Given the description of an element on the screen output the (x, y) to click on. 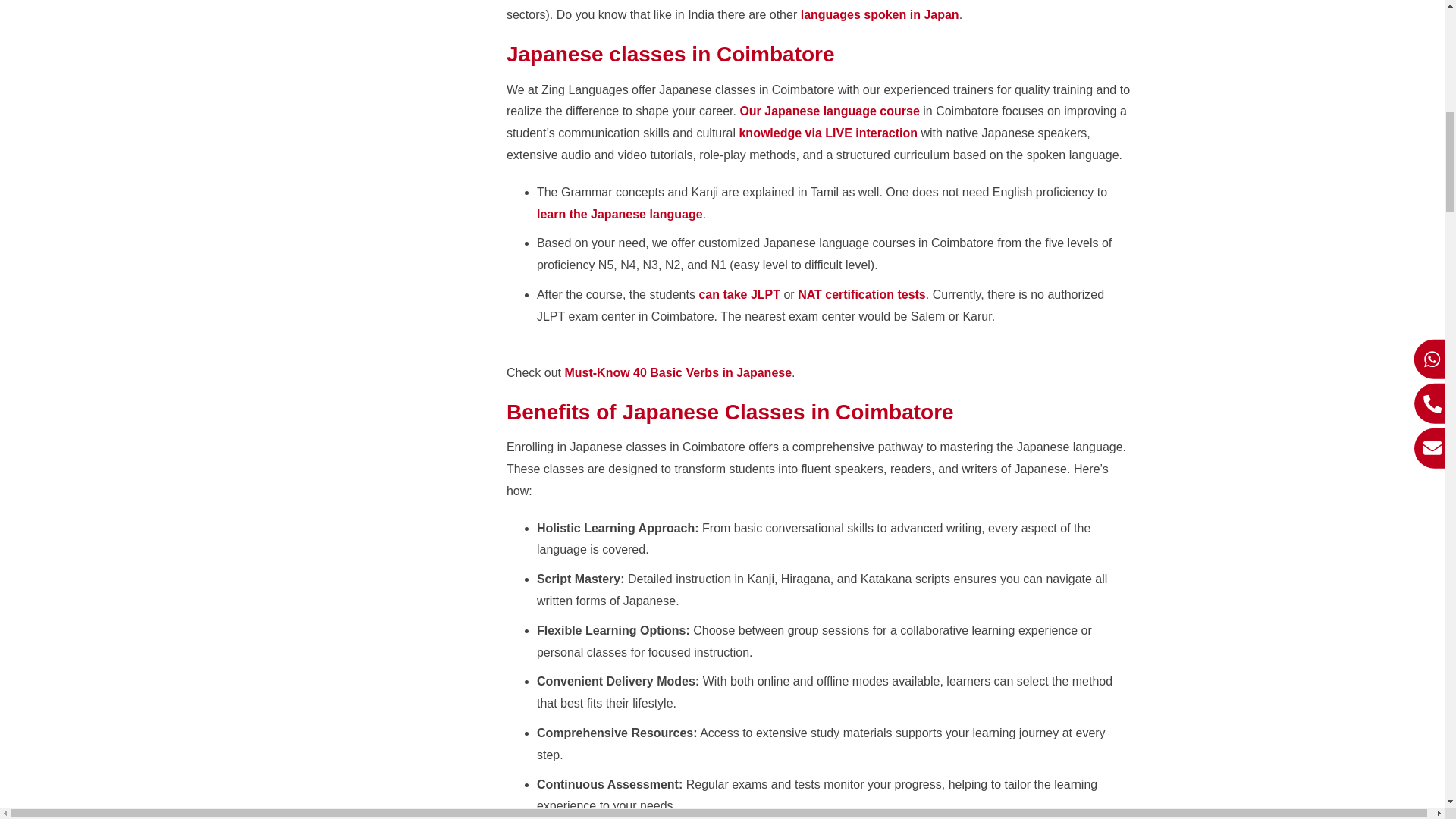
Our Japanese language course (828, 110)
NAT certification tests (861, 294)
languages spoken in Japan (879, 14)
can take JLPT (739, 294)
learn the Japanese language (620, 214)
knowledge via LIVE interaction (827, 132)
Must-Know 40 Basic Verbs in Japanese (678, 372)
